Given the description of an element on the screen output the (x, y) to click on. 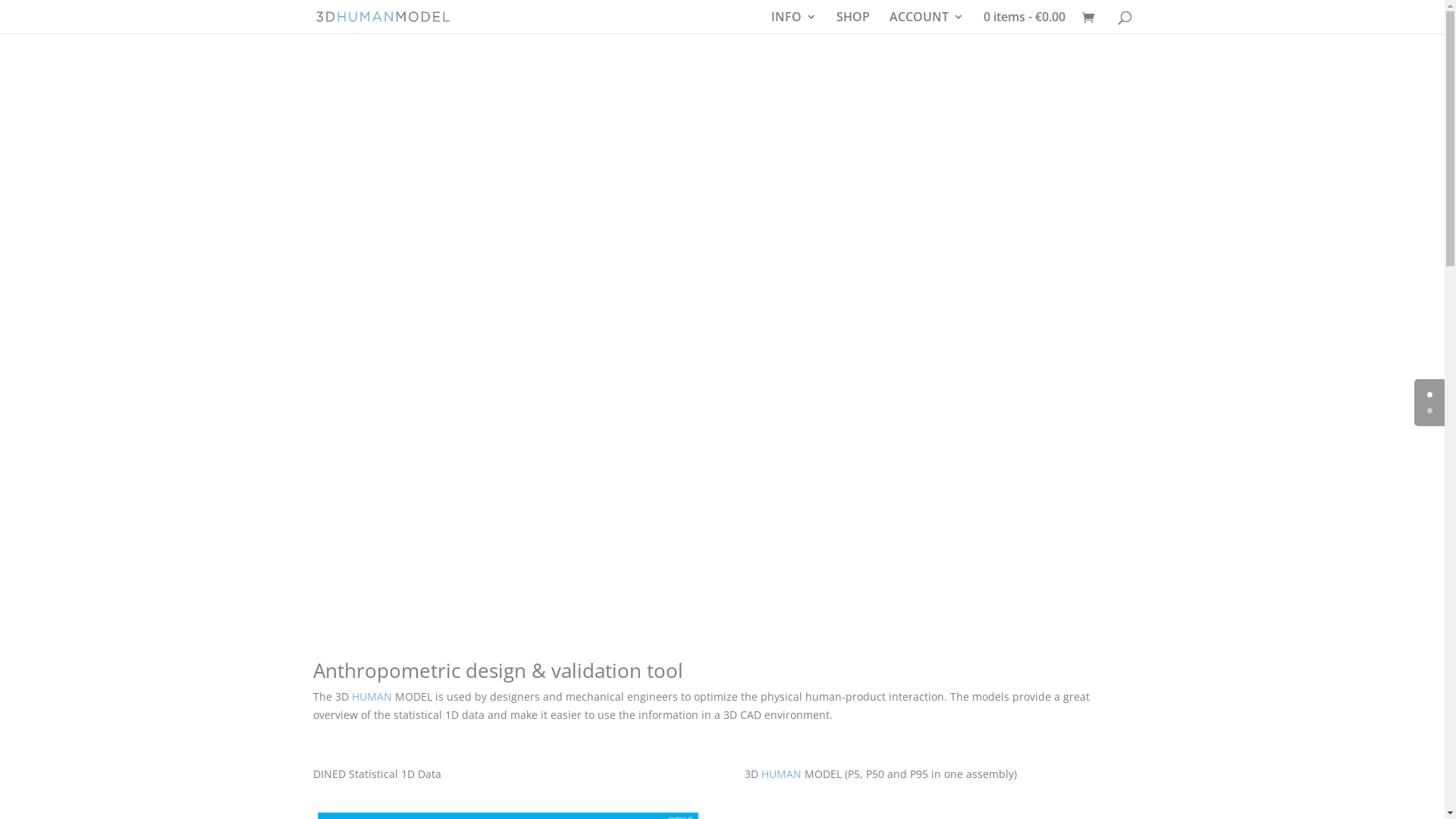
HUMAN  Element type: text (373, 696)
0 Element type: text (1429, 394)
ACCOUNT Element type: text (925, 22)
INFO Element type: text (792, 22)
1 Element type: text (1429, 410)
SHOP Element type: text (852, 22)
HUMAN  Element type: text (782, 773)
